Given the description of an element on the screen output the (x, y) to click on. 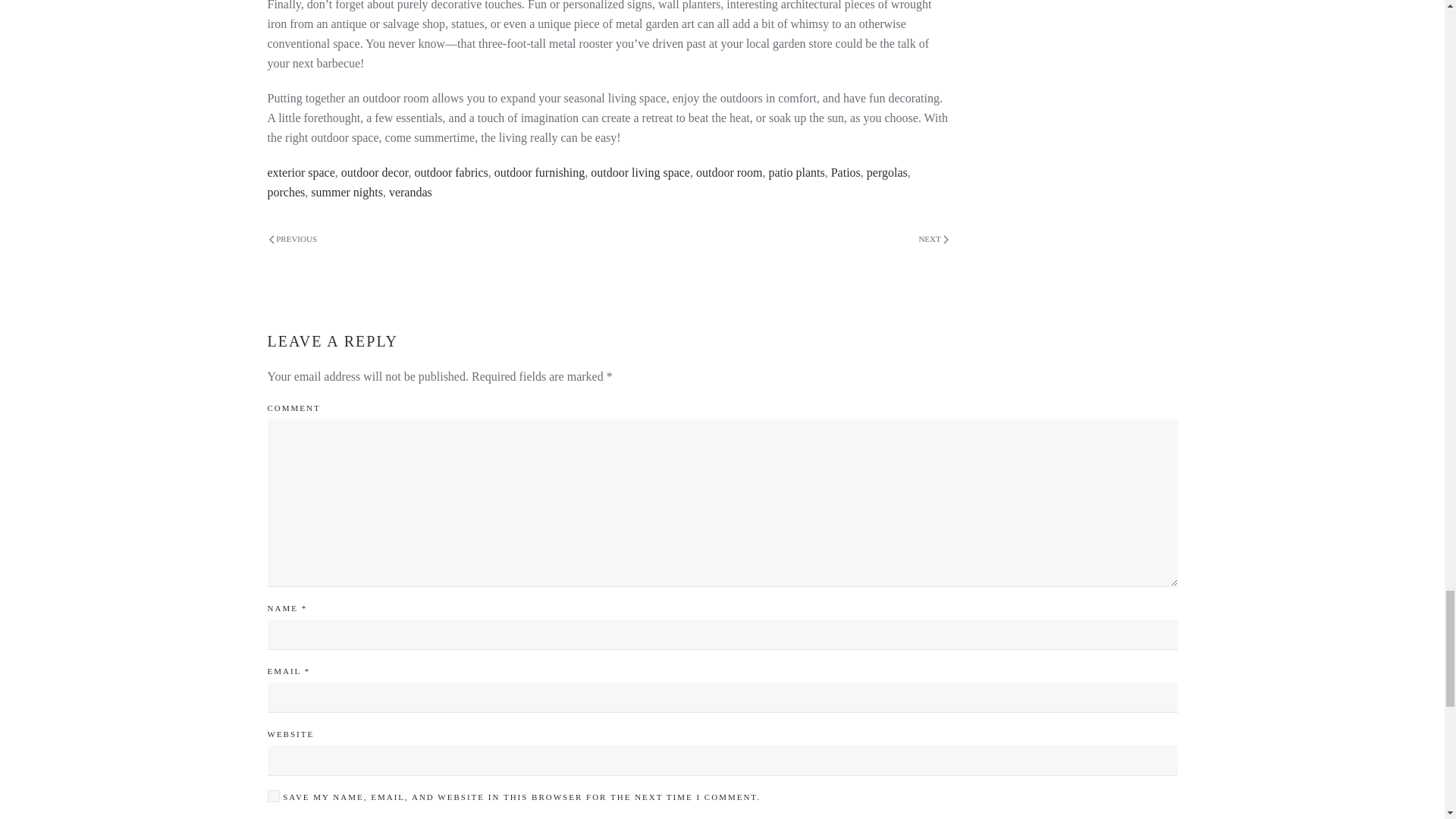
outdoor decor (374, 172)
yes (272, 796)
exterior space (300, 172)
